Given the description of an element on the screen output the (x, y) to click on. 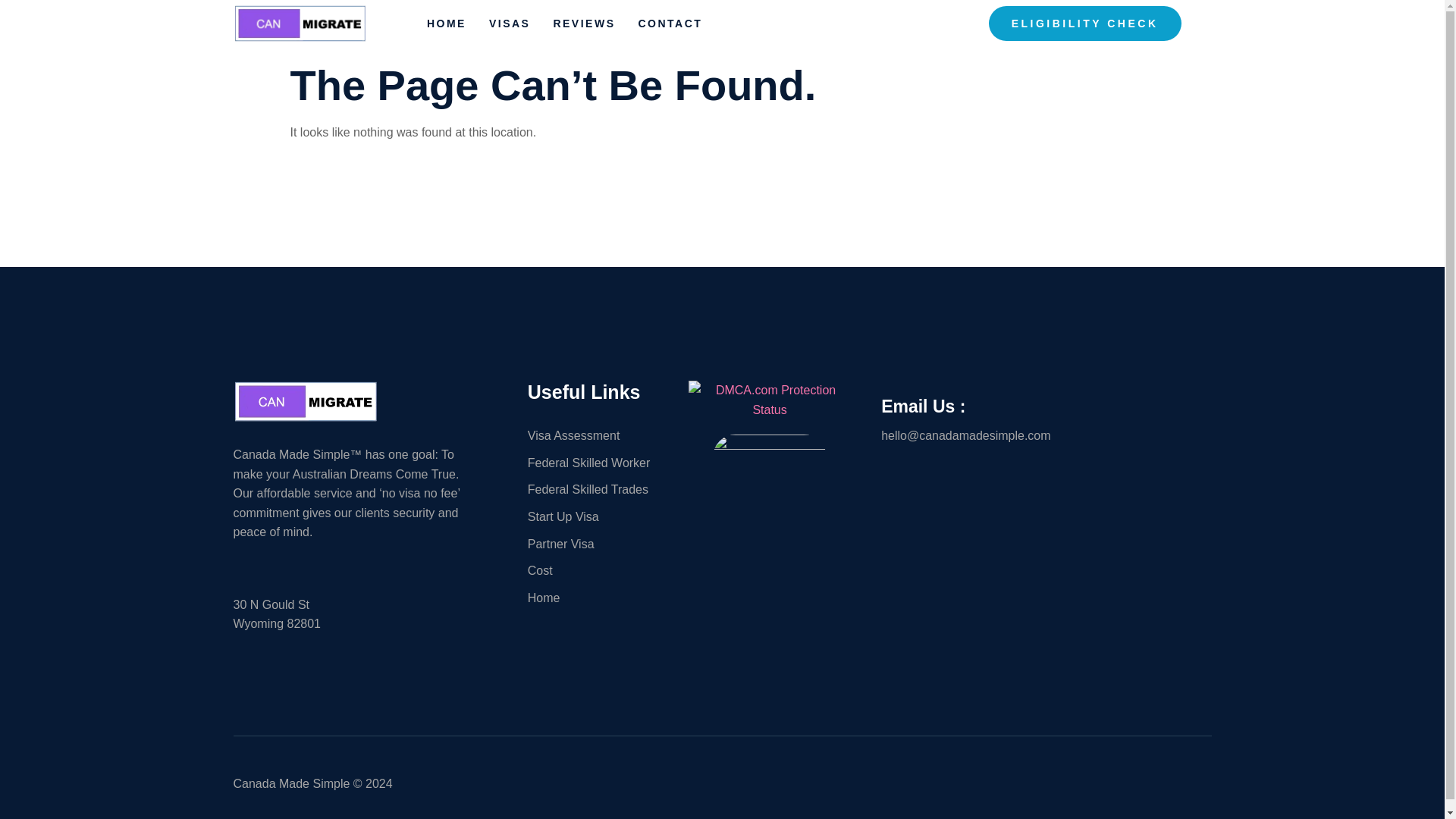
VISAS (521, 27)
Start Up Visa (599, 516)
ELIGIBILITY CHECK (1084, 23)
DMCA.com Protection Status (769, 409)
Federal Skilled Worker (599, 463)
Federal Skilled Trades (599, 489)
Home (599, 598)
Partner Visa (599, 544)
Cost (599, 570)
Visa Assessment (599, 435)
